Given the description of an element on the screen output the (x, y) to click on. 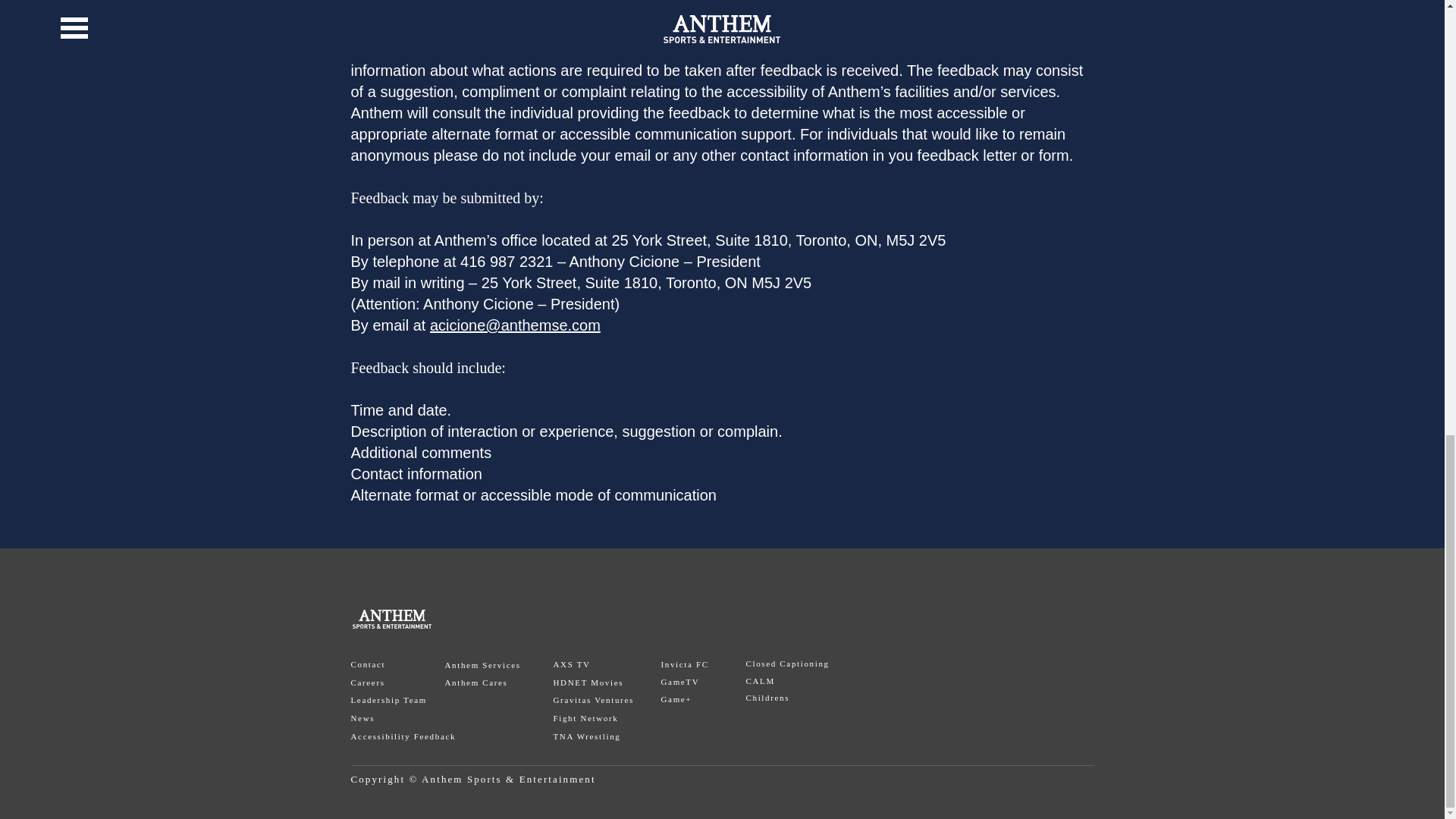
Accessibility Feedback (402, 736)
Childrens (767, 696)
Careers (367, 682)
Contact (367, 664)
AXS TV (572, 664)
Leadership Team (388, 699)
Anthem Cares (475, 682)
Closed Captioning (787, 663)
Gravitas Ventures (593, 699)
Anthem Services (481, 664)
HDNET Movies (588, 682)
Fight Network (585, 717)
CALM (759, 680)
TNA Wrestling (587, 736)
Invicta FC (685, 664)
